Given the description of an element on the screen output the (x, y) to click on. 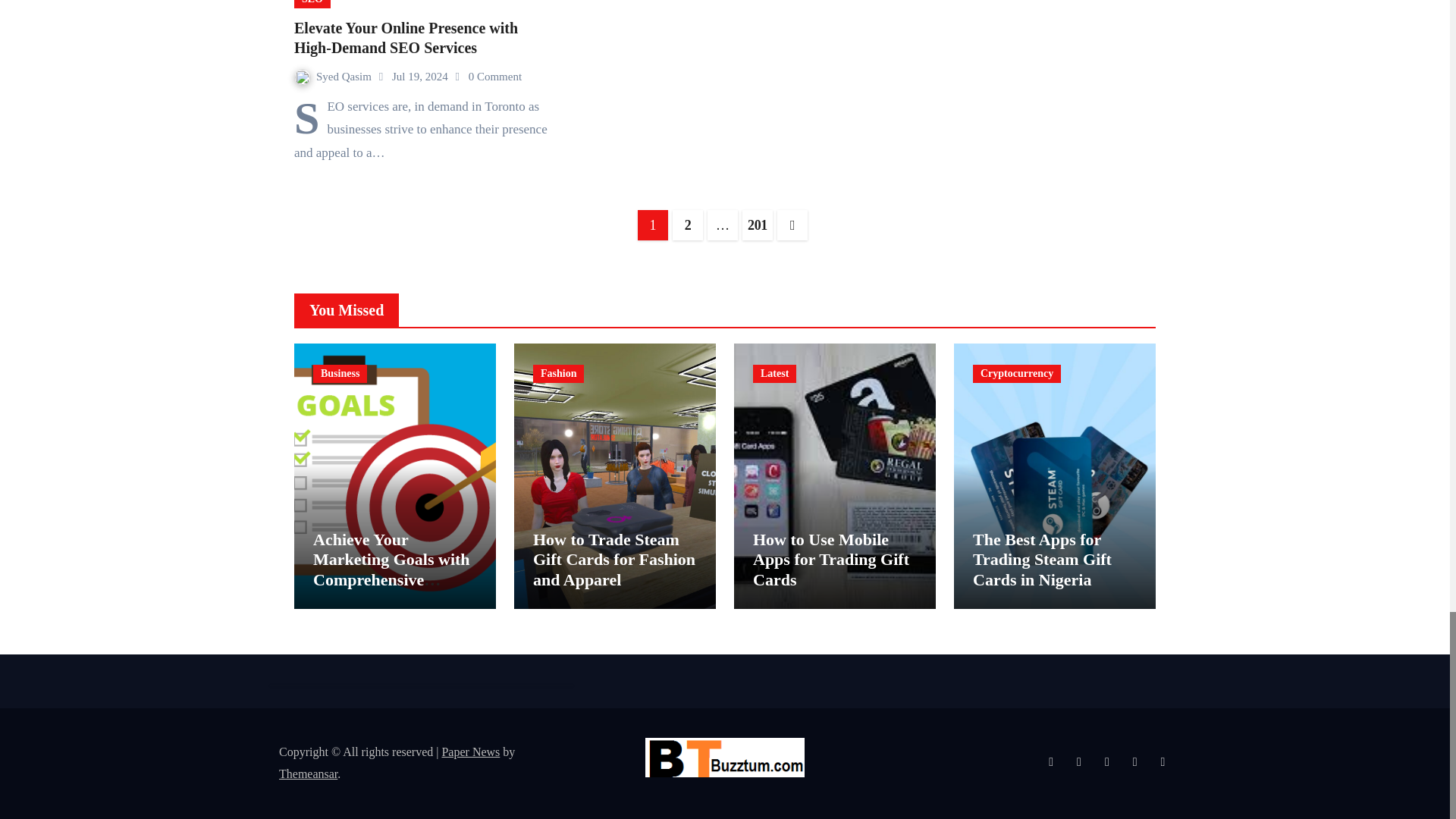
Permalink to: How to Use Mobile Apps for Trading Gift Cards (830, 558)
